Given the description of an element on the screen output the (x, y) to click on. 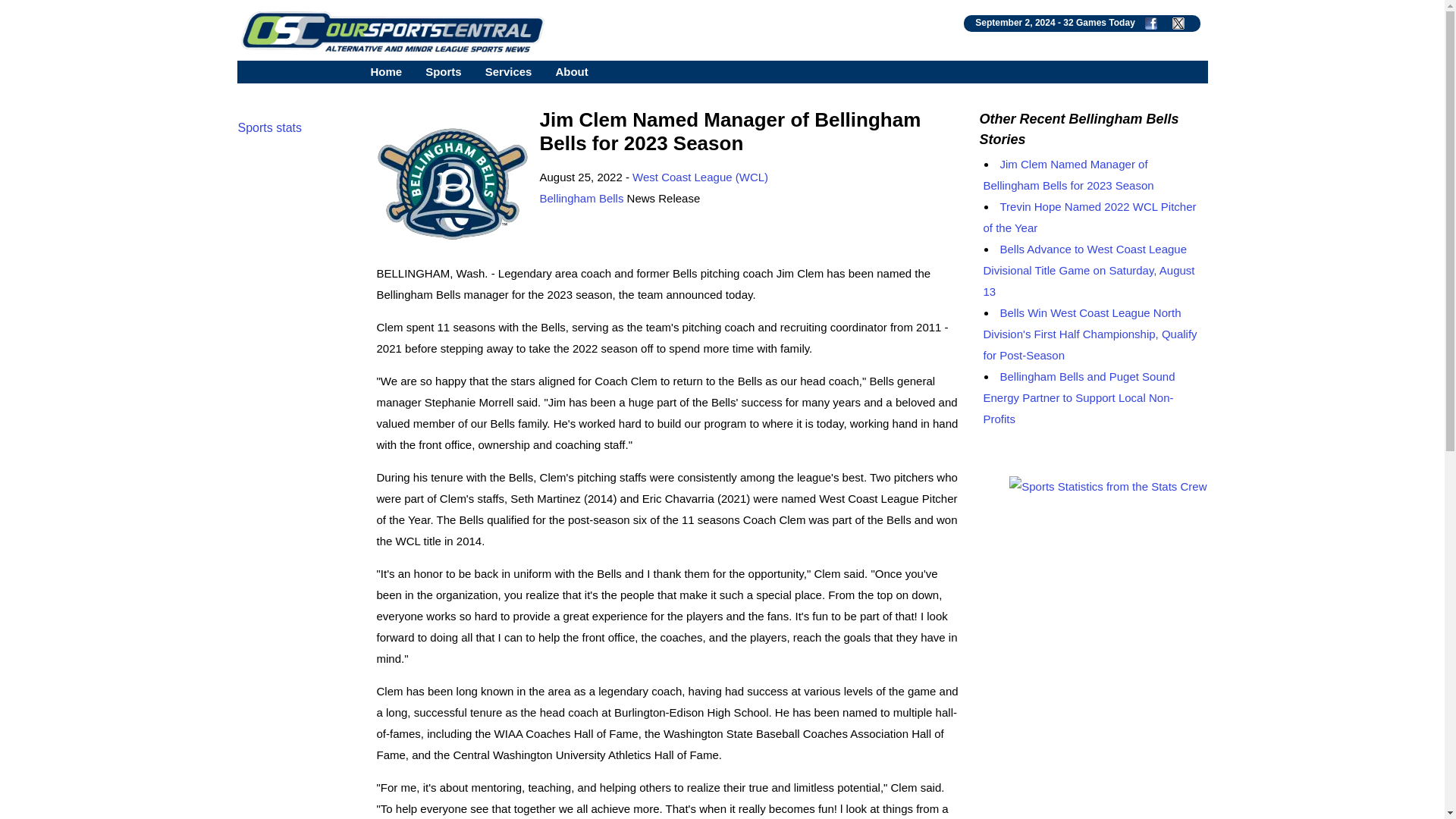
Home (385, 71)
32 Games Today (1098, 22)
Bellingham Bells (582, 197)
Sports stats (269, 127)
